Given the description of an element on the screen output the (x, y) to click on. 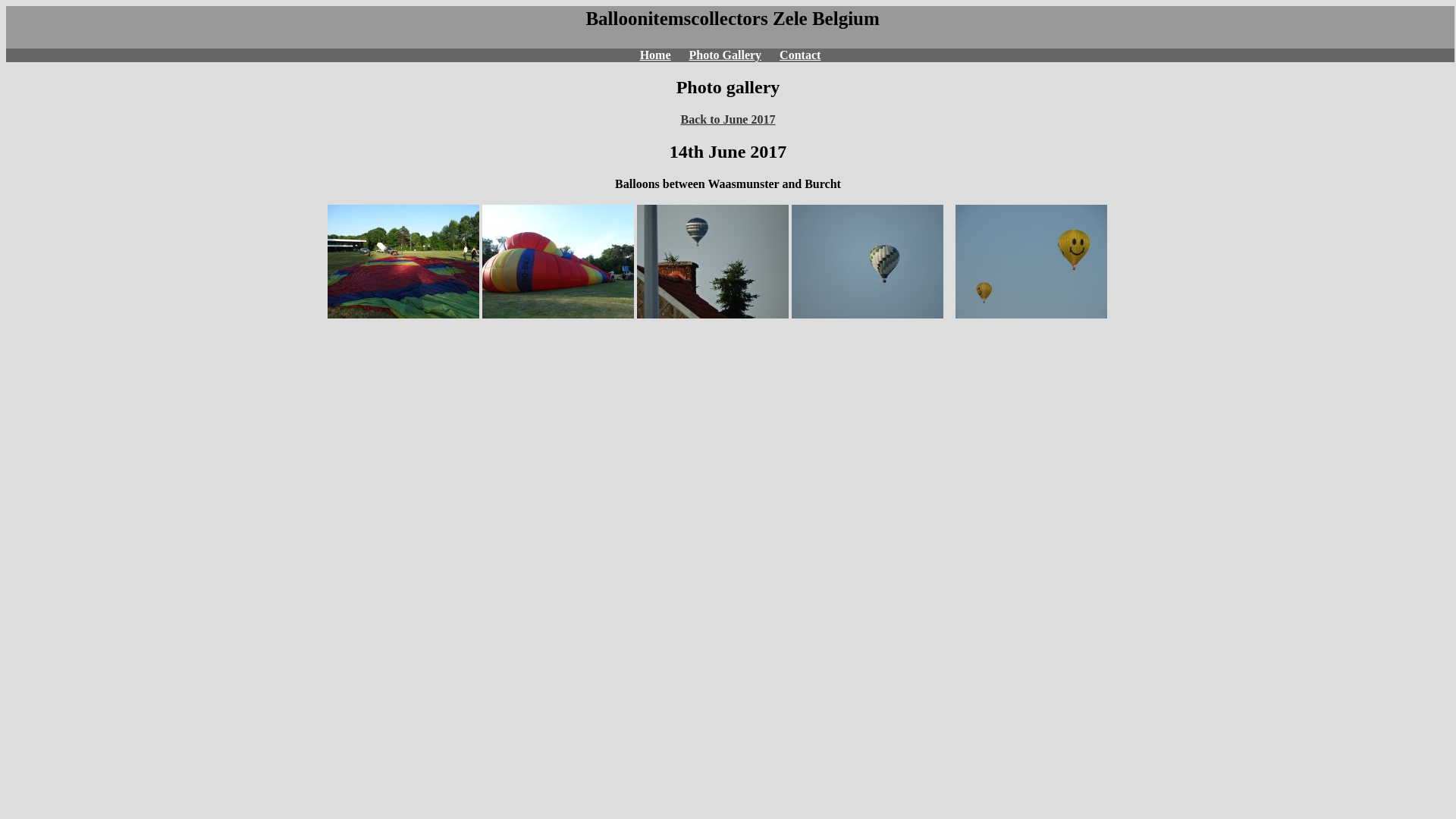
Back to June 2017 Element type: text (727, 118)
Home Element type: text (655, 54)
  Element type: text (582, 18)
Photo Gallery Element type: text (725, 54)
Contact Element type: text (799, 54)
